Given the description of an element on the screen output the (x, y) to click on. 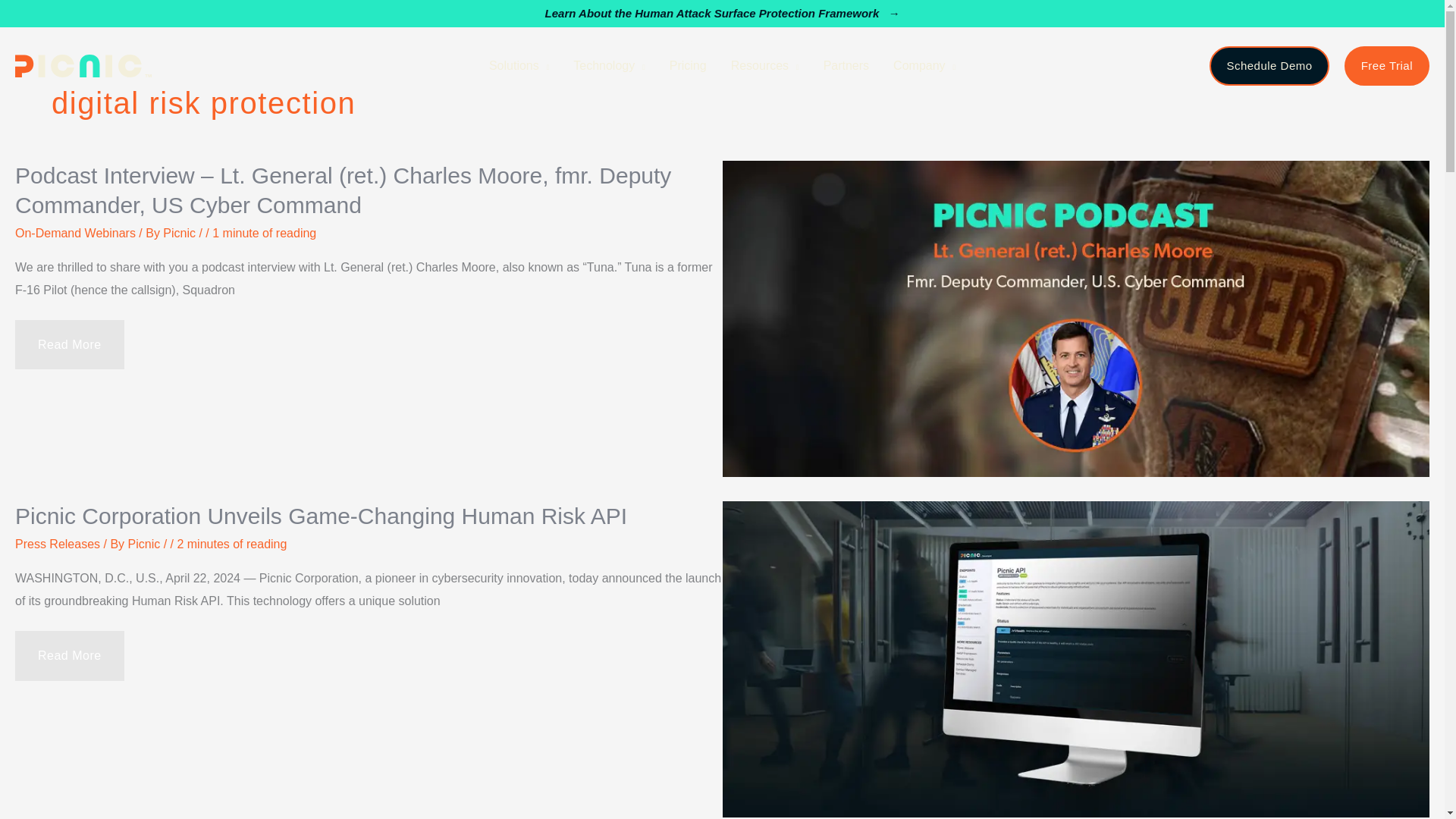
Resources (764, 65)
Technology (608, 65)
Pricing (688, 65)
View all posts by Picnic (180, 232)
View all posts by Picnic (145, 543)
Solutions (518, 65)
